Given the description of an element on the screen output the (x, y) to click on. 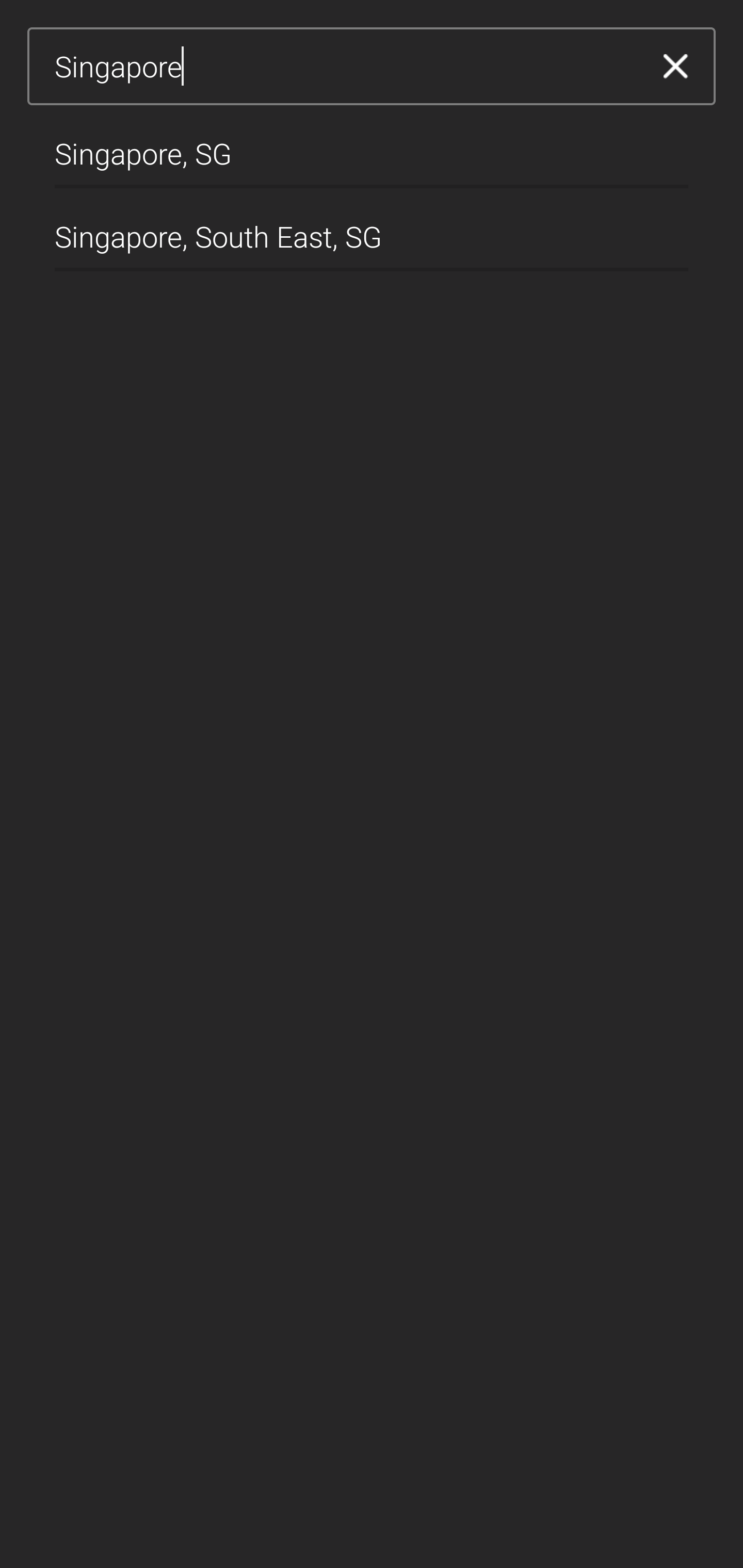
Singapore (345, 66)
Singapore, SG (371, 146)
Singapore, South East, SG (371, 229)
